Given the description of an element on the screen output the (x, y) to click on. 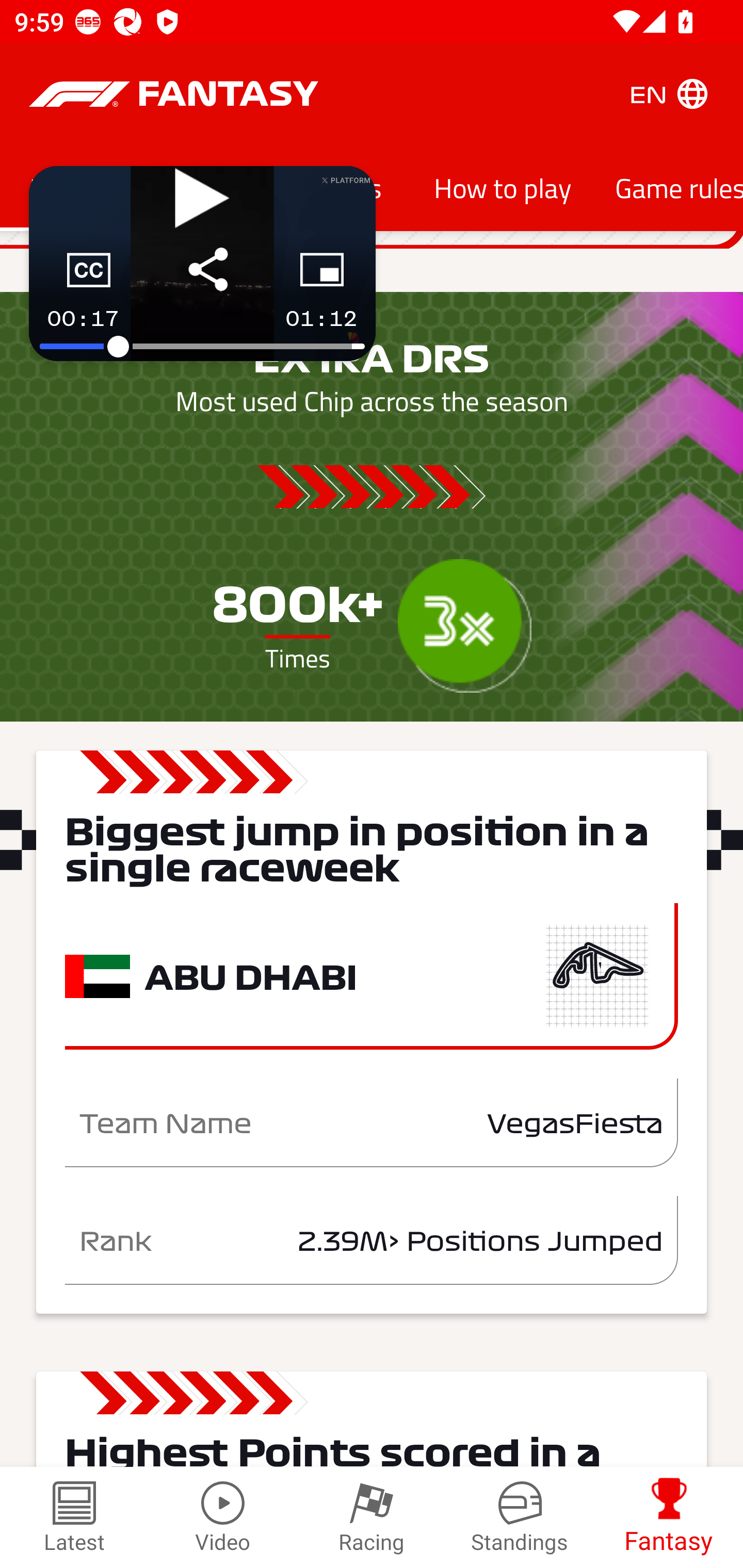
How to play (502, 187)
Game rules (668, 187)
Latest (74, 1517)
Video (222, 1517)
Racing (371, 1517)
Standings (519, 1517)
